Given the description of an element on the screen output the (x, y) to click on. 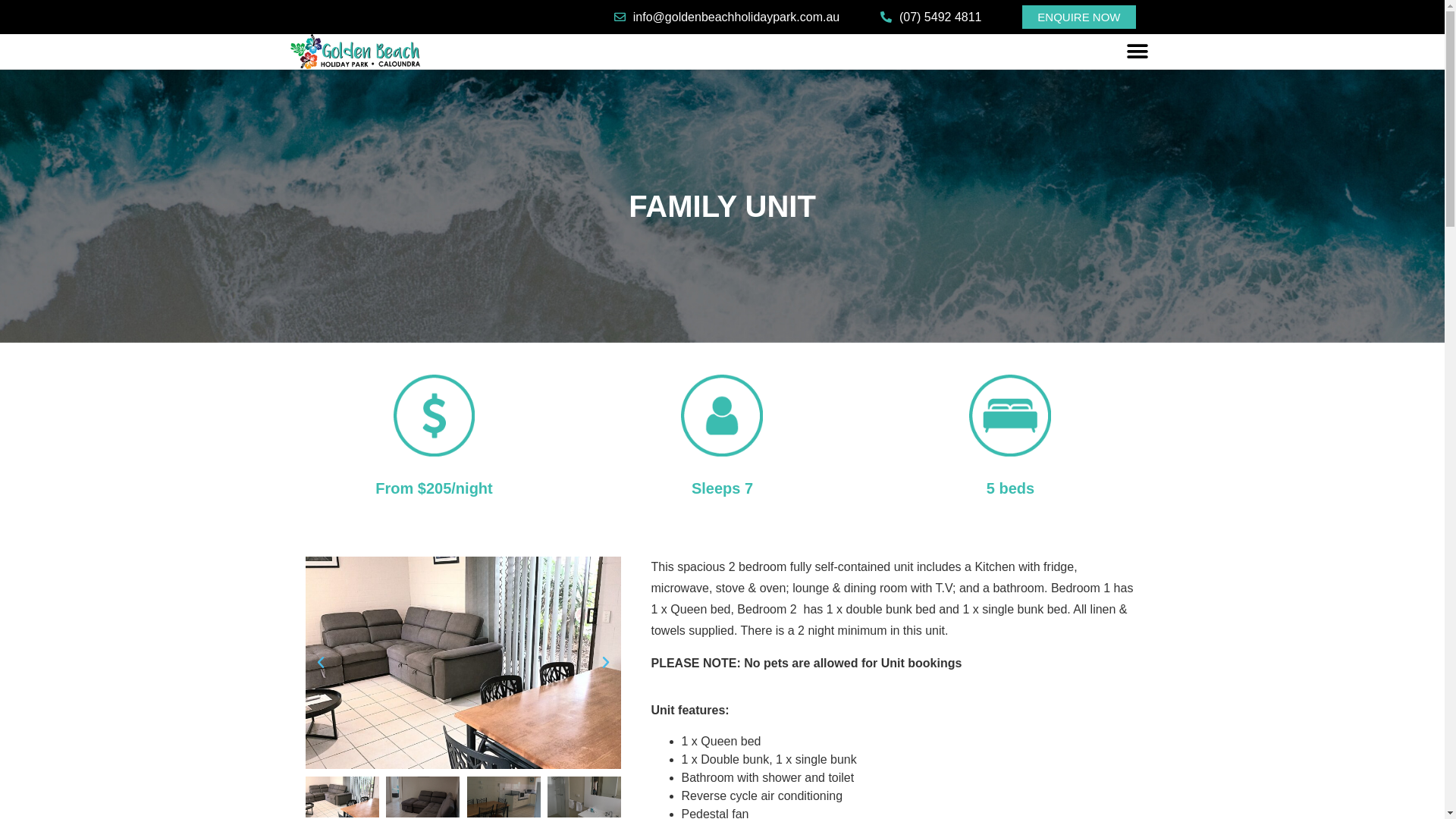
ENQUIRE NOW Element type: text (1078, 16)
(07) 5492 4811 Element type: text (929, 16)
info@goldenbeachholidaypark.com.au Element type: text (725, 16)
